Given the description of an element on the screen output the (x, y) to click on. 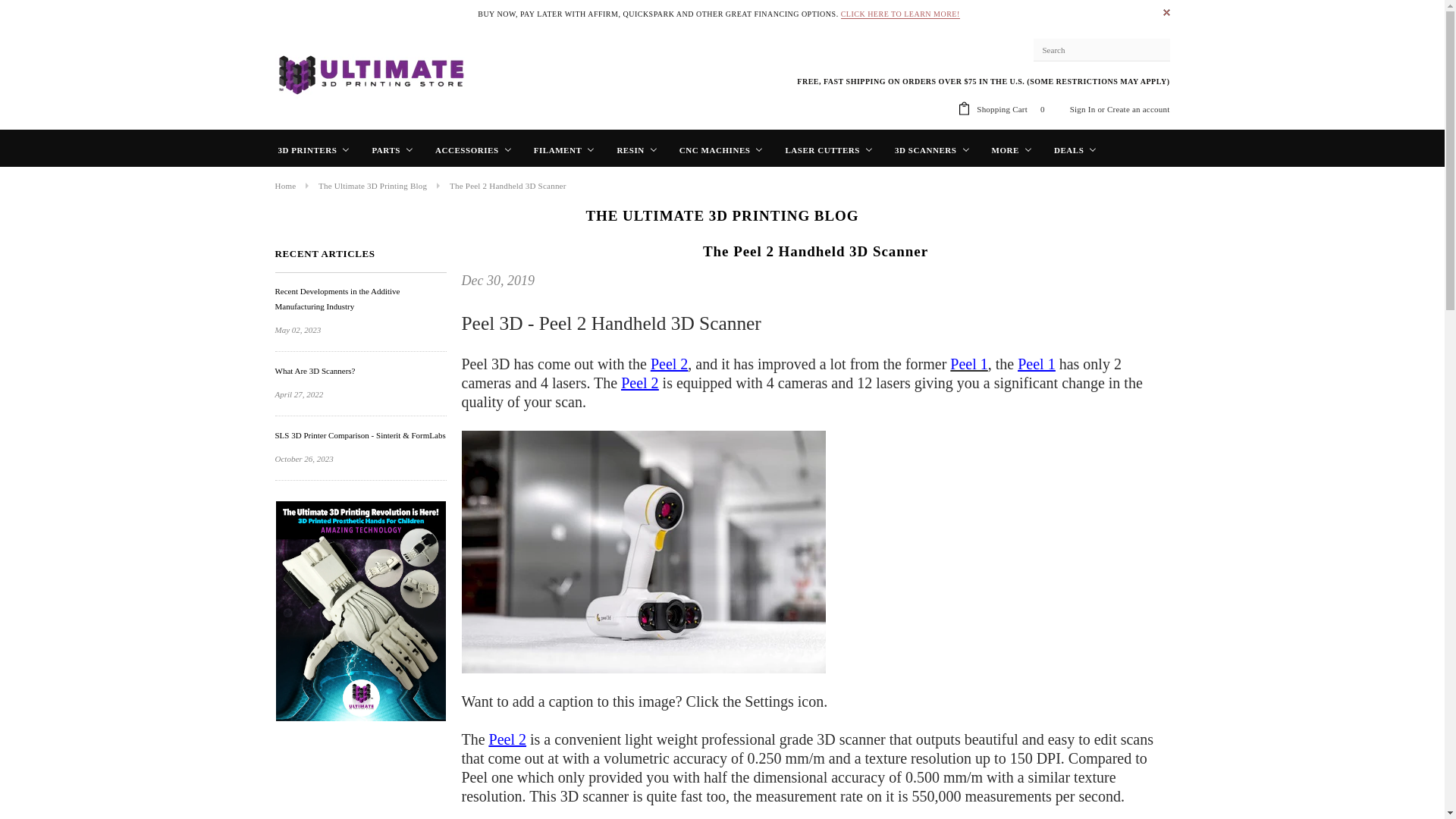
Create an account (1138, 108)
Shopping Cart 0 (1012, 108)
CLOSE (1166, 12)
Sign In (1083, 108)
3D PRINTERS (314, 149)
CLICK HERE TO LEARN MORE! (900, 13)
